Given the description of an element on the screen output the (x, y) to click on. 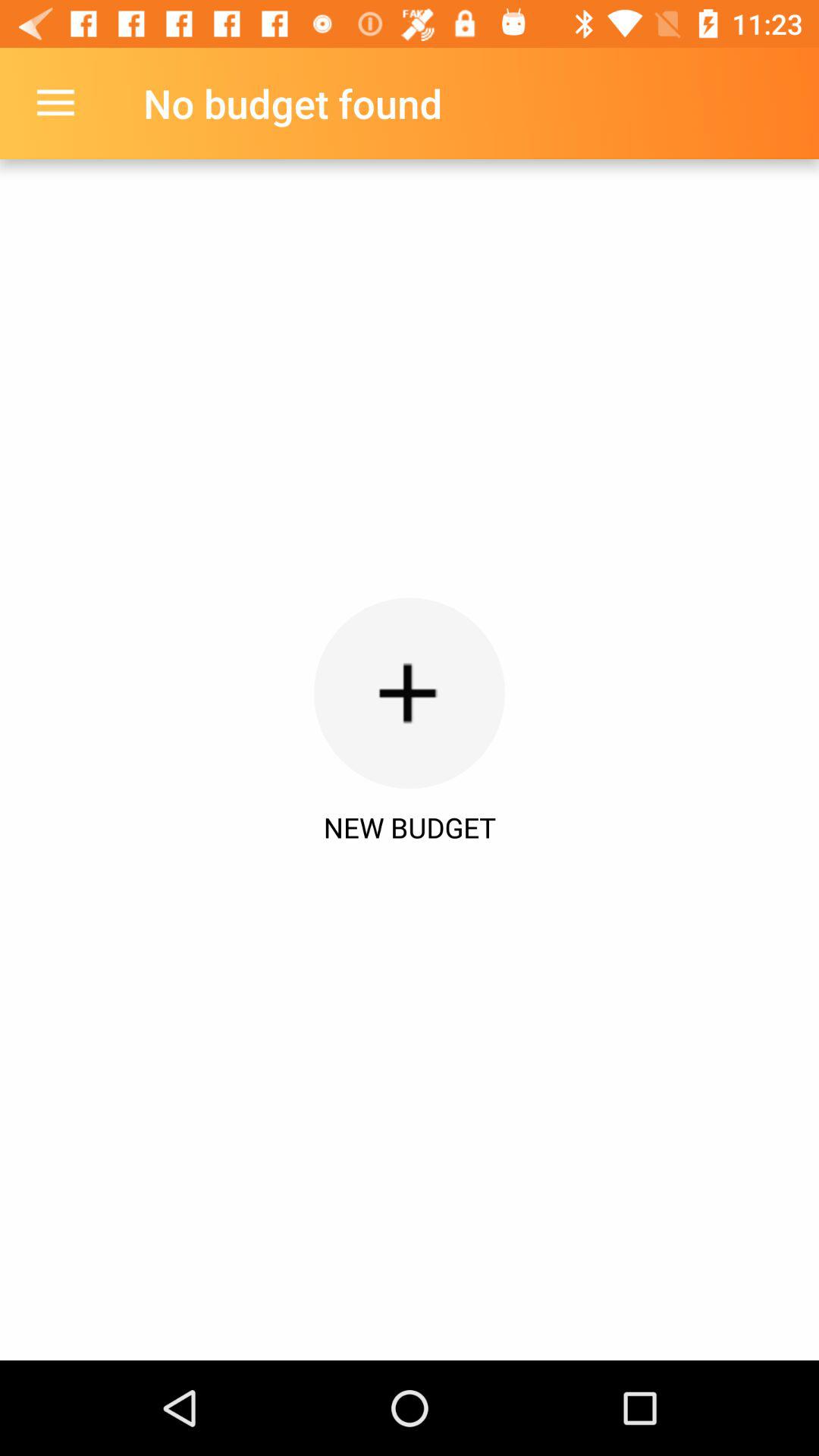
choose the item above the new budget icon (409, 692)
